Given the description of an element on the screen output the (x, y) to click on. 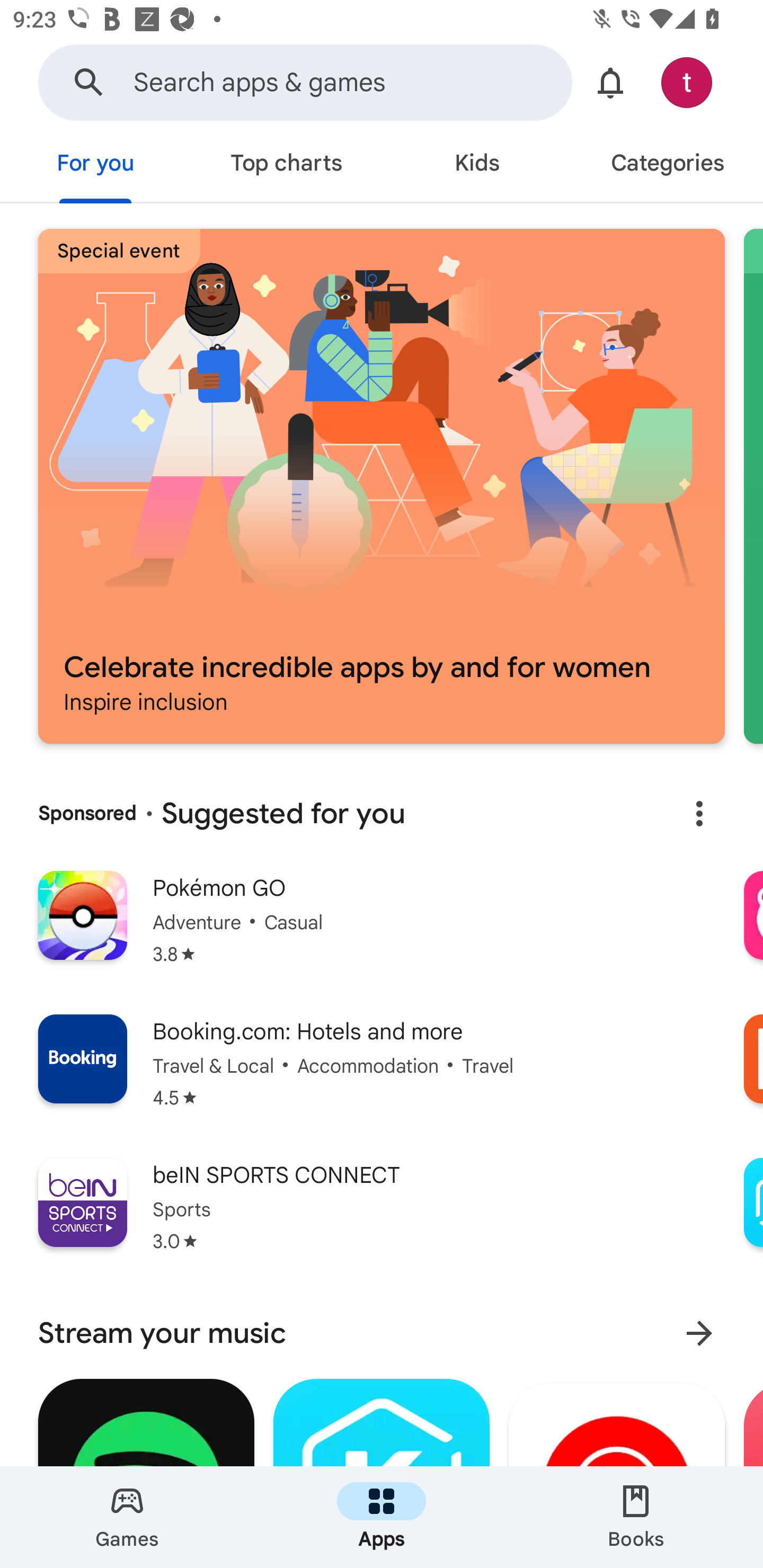
Search Google Play Search apps & games (305, 81)
Search Google Play (89, 81)
Show notifications and offers. (610, 81)
Top charts (285, 165)
Kids (476, 165)
Categories (667, 165)
About this ad (699, 813)
Pokémon GO
Adventure
Casual
Star rating: 3.8
 (381, 929)
beIN SPORTS CONNECT
Sports
Star rating: 3.0
 (381, 1216)
More results for Stream your music (699, 1333)
Games (127, 1517)
Books (635, 1517)
